Given the description of an element on the screen output the (x, y) to click on. 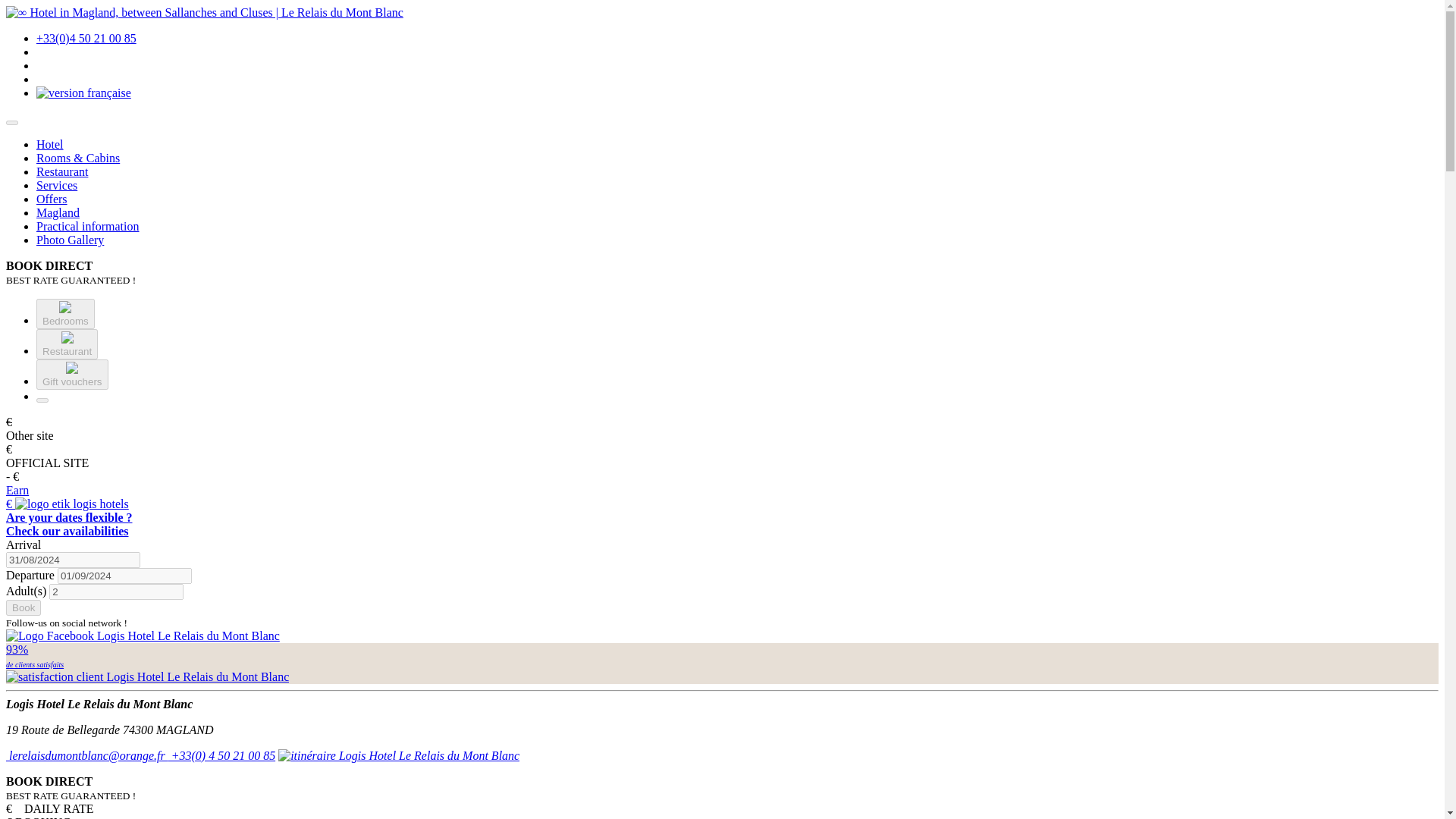
Bedrooms (65, 313)
Restaurant (66, 344)
Hotel (50, 144)
Restaurant (68, 524)
Page Facebook Logis Hotel Le Relais du Mont Blanc (61, 171)
Logis Hotel Le Relais du Mont Blanc (142, 635)
2 (83, 92)
Gift vouchers (116, 591)
Photo Gallery (71, 374)
